Given the description of an element on the screen output the (x, y) to click on. 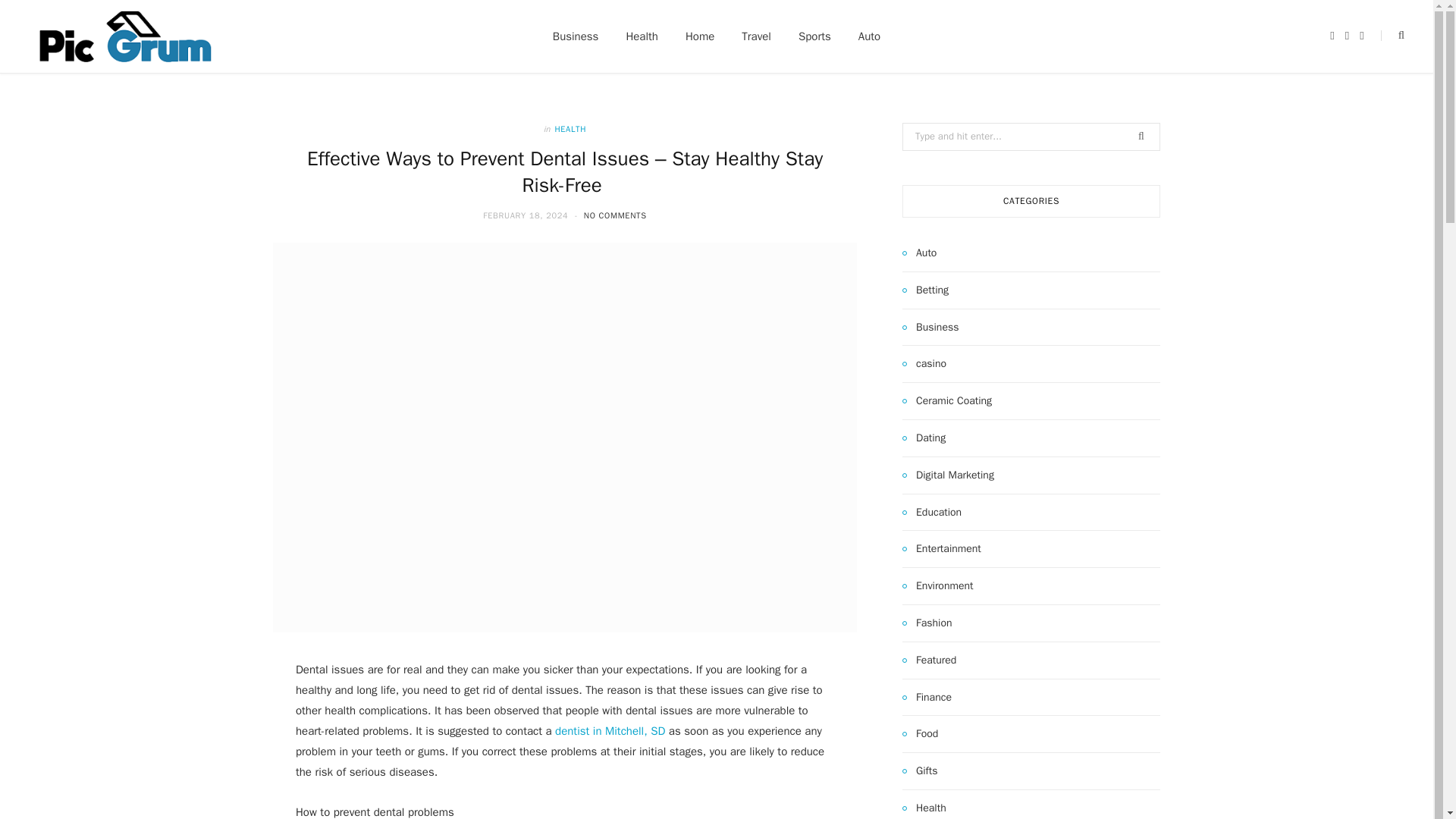
NO COMMENTS (614, 214)
Business (575, 36)
Search for: (1031, 136)
casino (924, 363)
FEBRUARY 18, 2024 (526, 214)
Picgrum (124, 36)
Ceramic Coating (946, 401)
dentist in Mitchell, SD (609, 730)
HEALTH (570, 128)
Auto (919, 253)
